Given the description of an element on the screen output the (x, y) to click on. 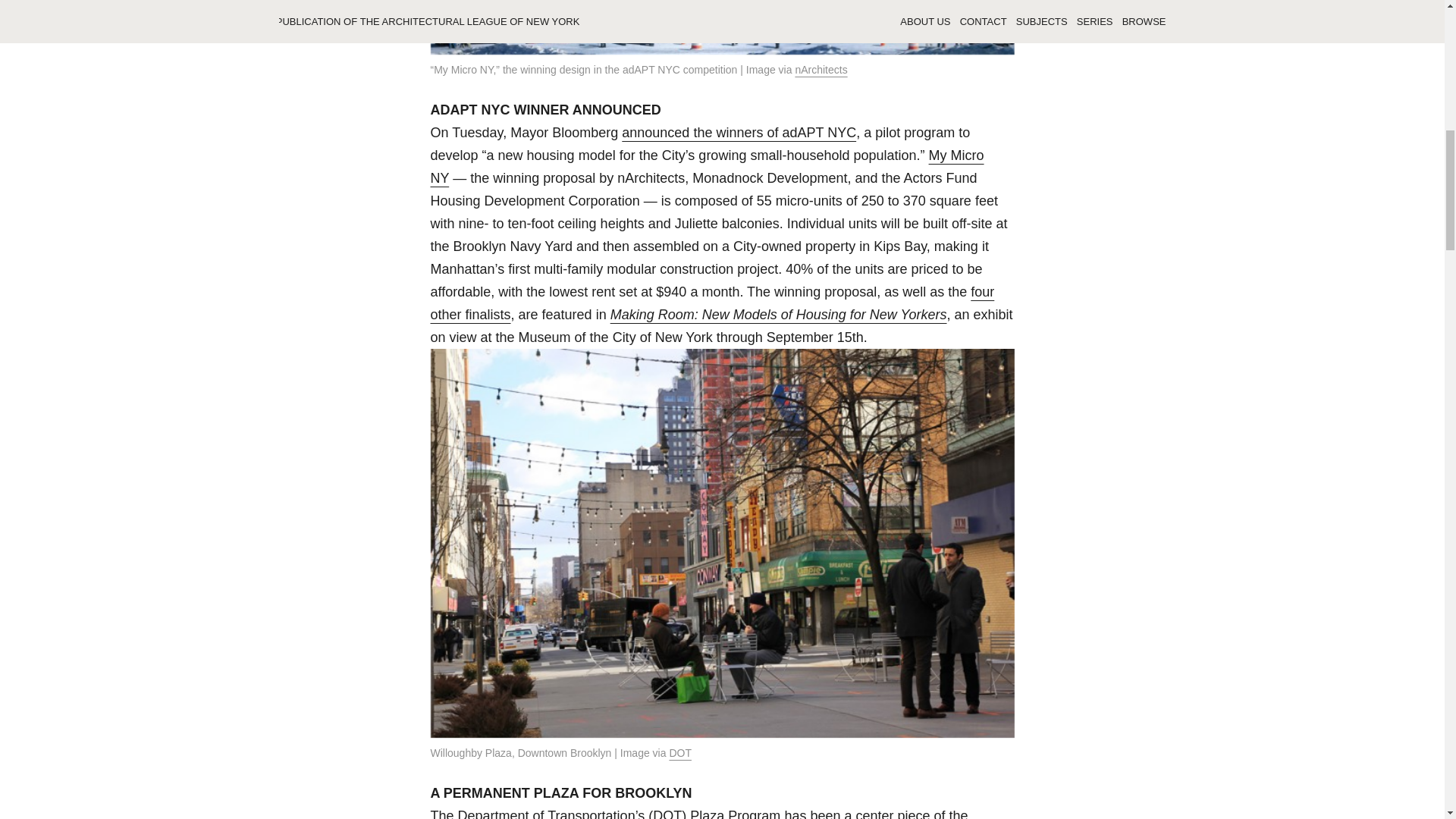
My Micro NY (722, 27)
